Given the description of an element on the screen output the (x, y) to click on. 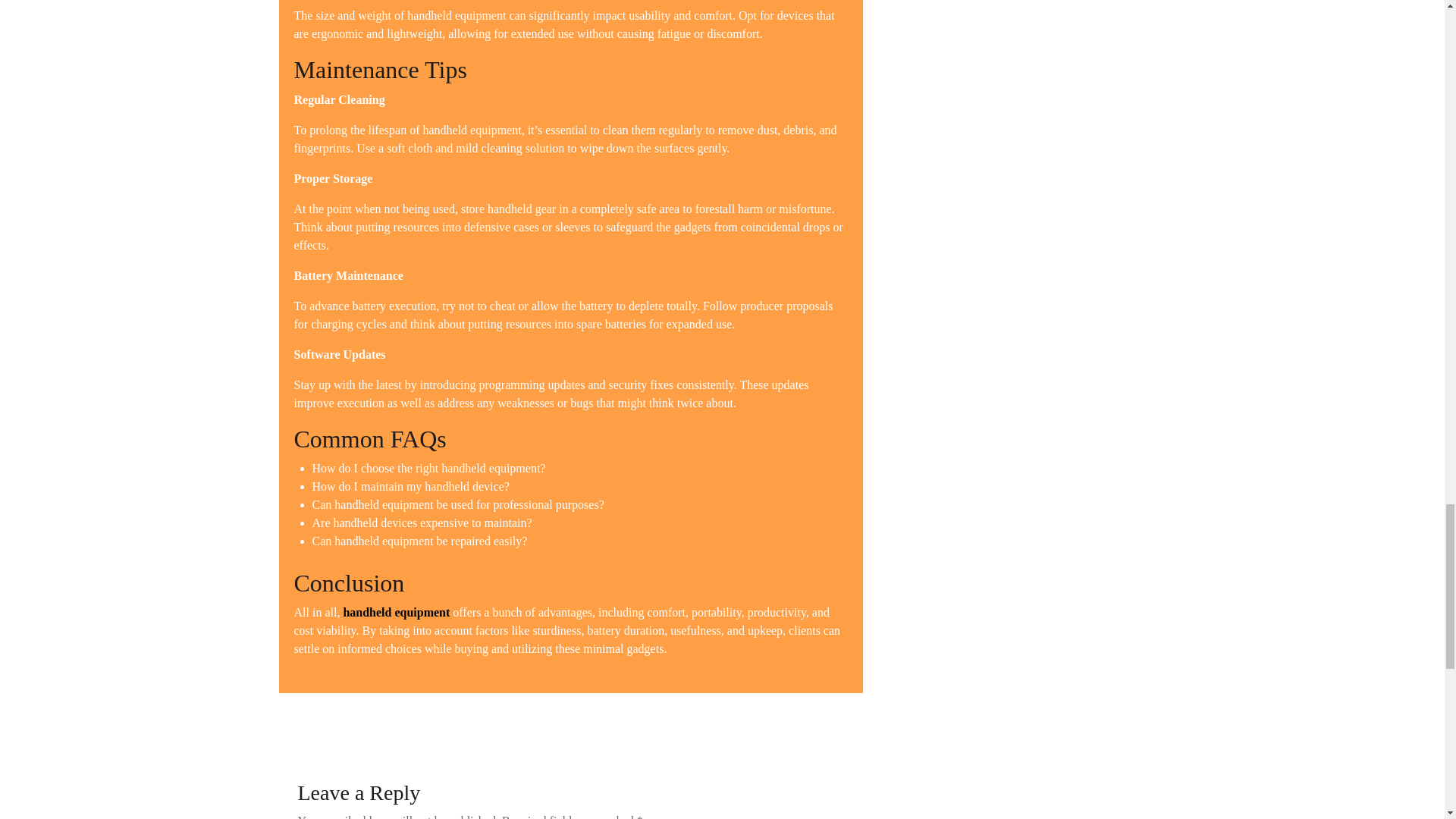
handheld equipment (395, 612)
